Given the description of an element on the screen output the (x, y) to click on. 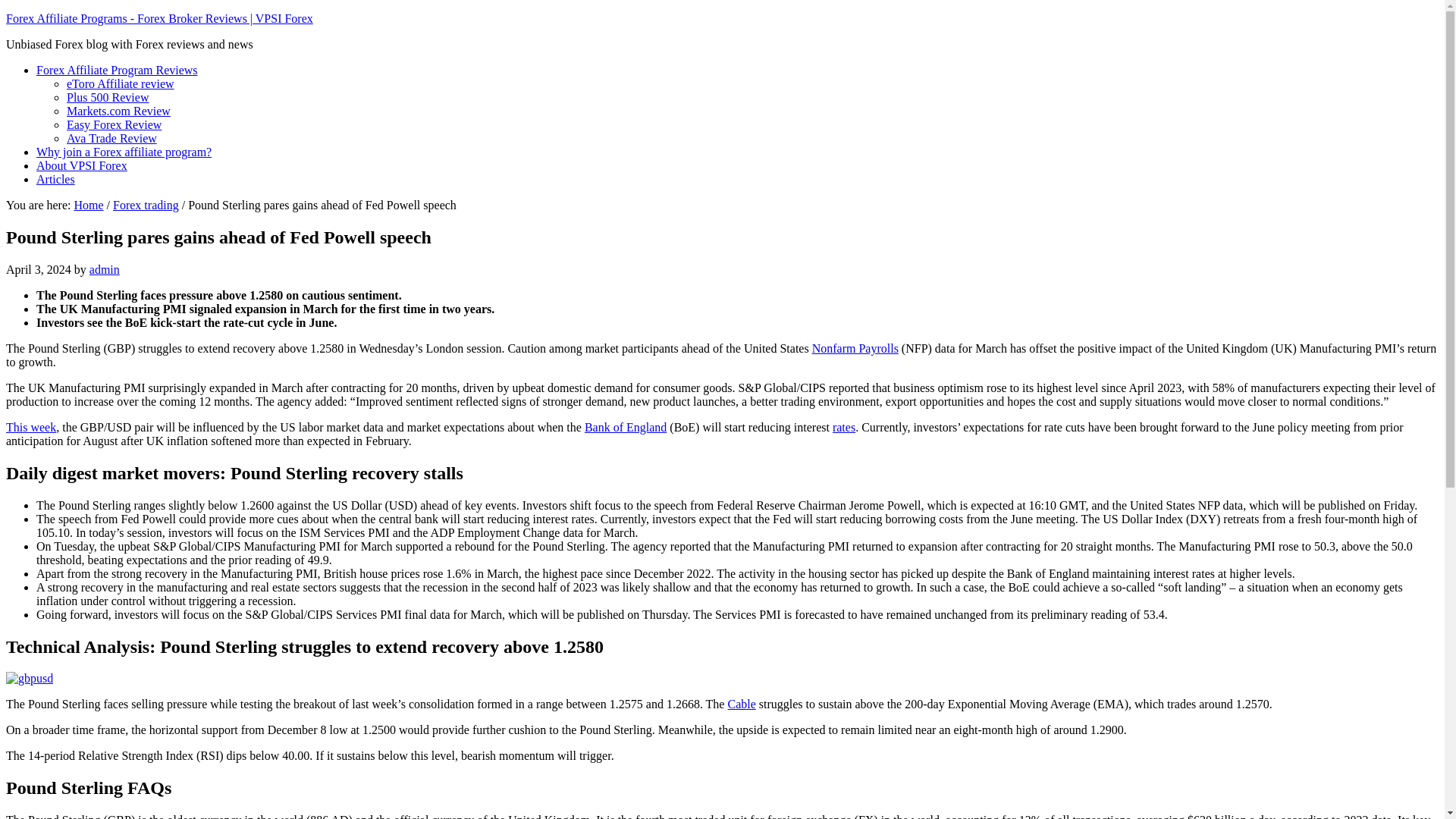
This week (30, 427)
rates (844, 427)
Easy Forex Review (113, 124)
Cable (740, 703)
Nonfarm Payrolls (855, 348)
About VPSI Forex (82, 164)
Forex trading (146, 205)
eToro Affiliate review (120, 83)
admin (103, 269)
Forex Affiliate Program Reviews (117, 69)
Plus 500 Review (107, 97)
Home (88, 205)
Ava Trade Review (111, 137)
Why join a Forex affiliate program? (123, 151)
Markets.com Review (118, 110)
